Given the description of an element on the screen output the (x, y) to click on. 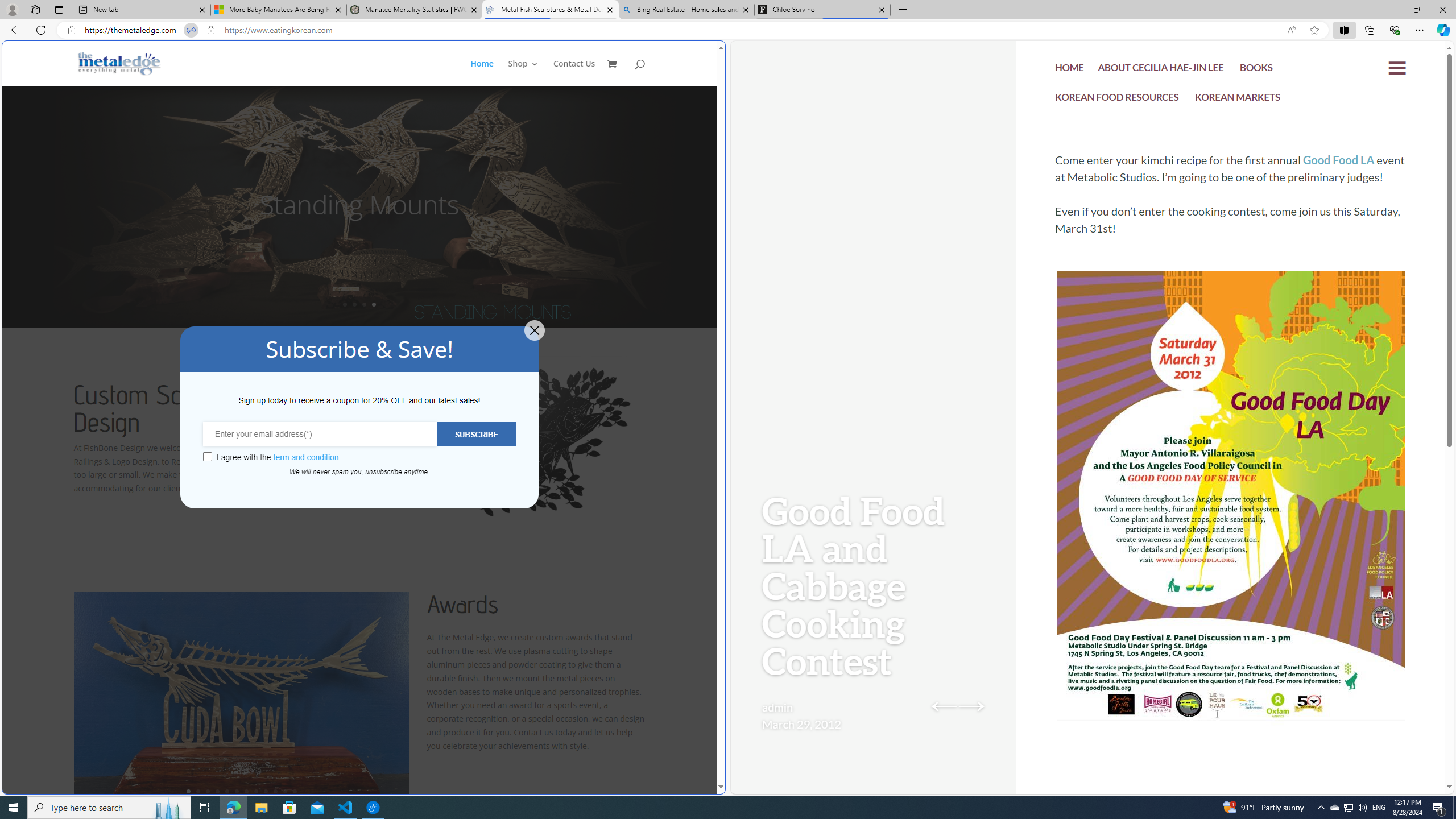
KOREAN MARKETS (1237, 98)
Enter your email address(*) (319, 433)
good food la poster (1230, 530)
Class: wcb-gdpr-checkbox (207, 456)
Good Food LA (1338, 160)
6 (236, 790)
HOME (1069, 68)
10 (275, 790)
Metal Fish Sculptures & Metal Designs (119, 63)
12 (294, 790)
